Given the description of an element on the screen output the (x, y) to click on. 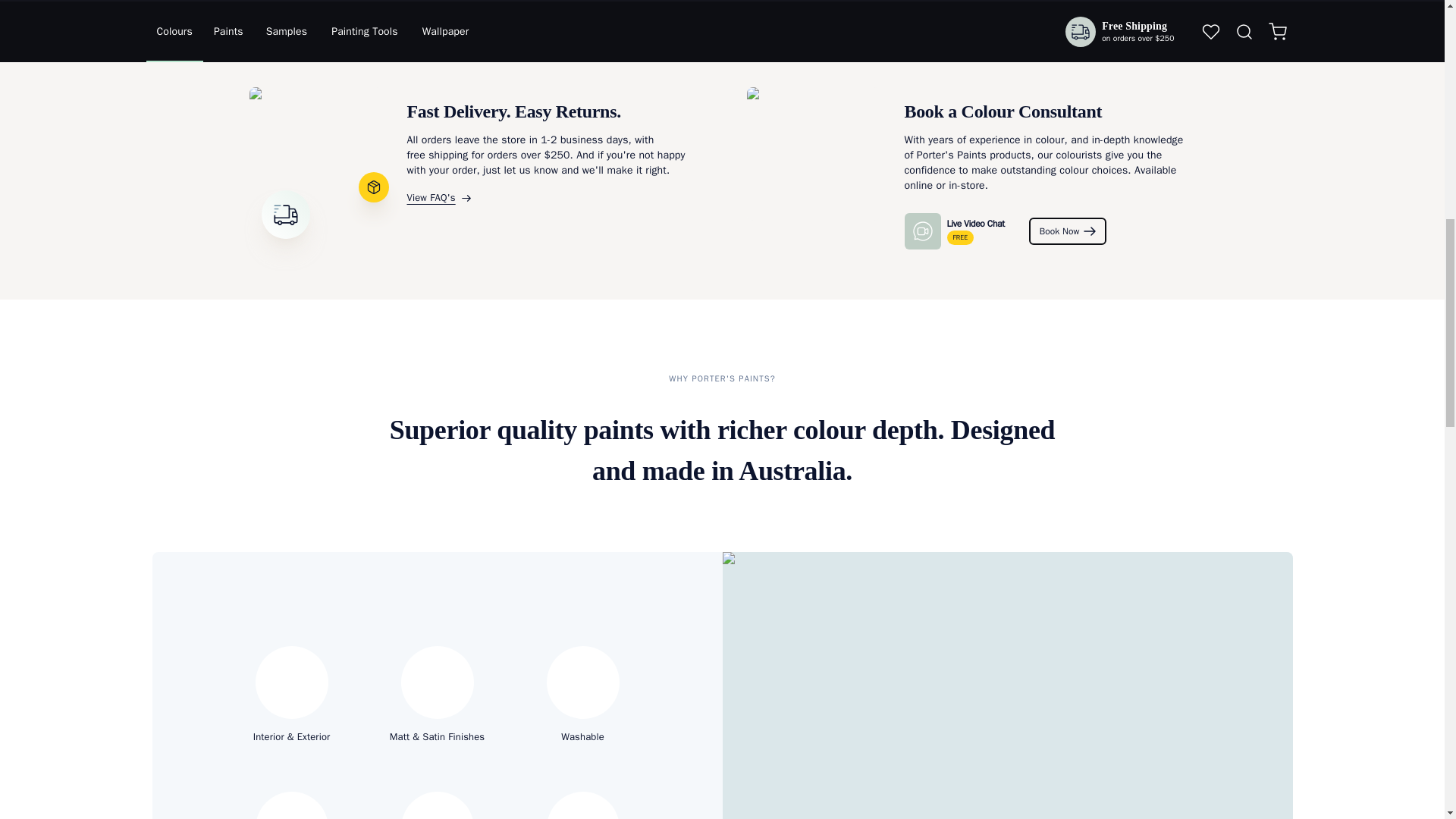
View FAQ's (551, 197)
View FAQ's (551, 197)
Book Now (1067, 230)
